Given the description of an element on the screen output the (x, y) to click on. 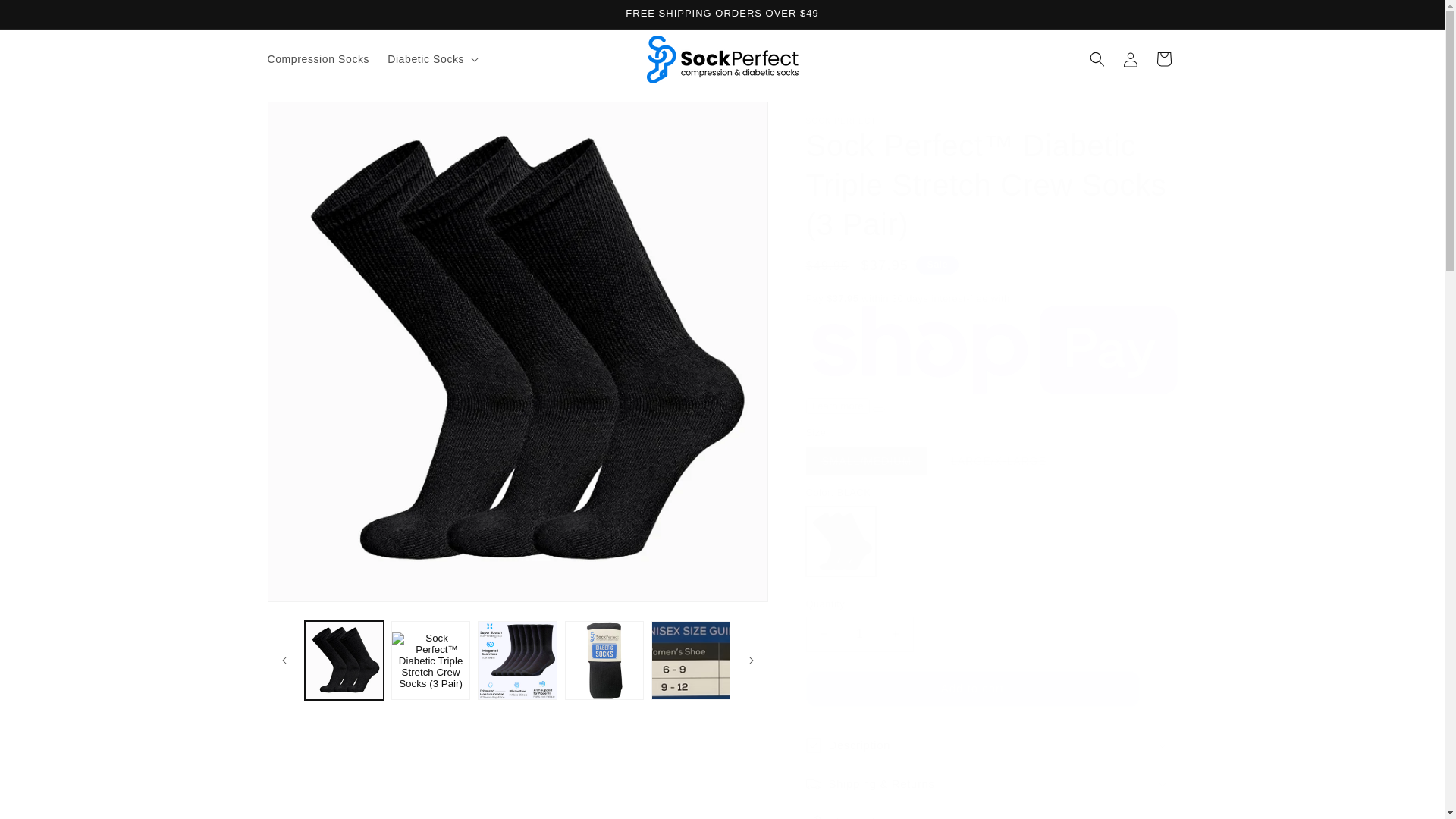
Cart (1163, 59)
Skip to content (45, 17)
Compression Socks (317, 59)
1 (858, 633)
Log in (1130, 59)
Skip to product information (312, 118)
